Given the description of an element on the screen output the (x, y) to click on. 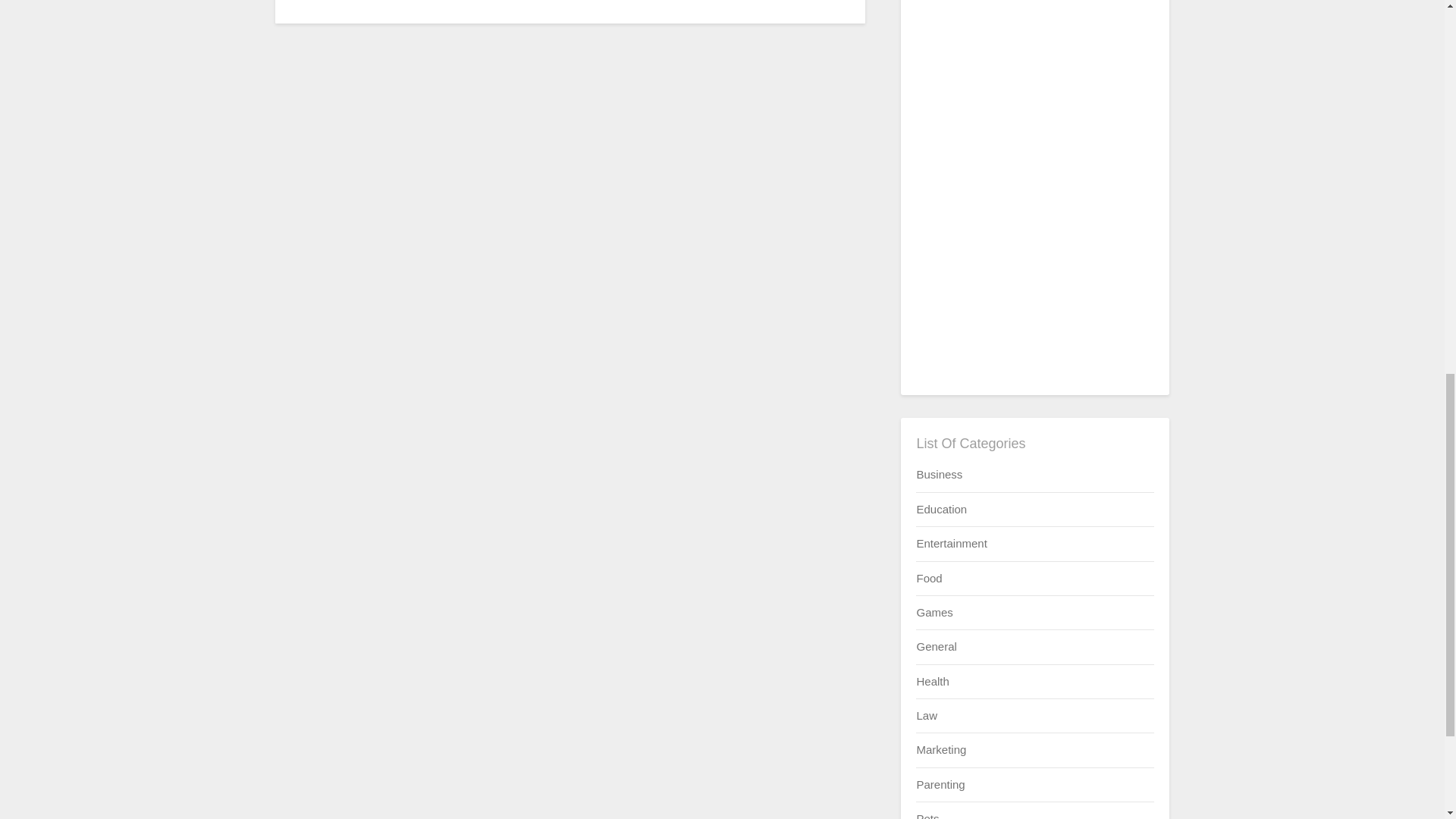
Law (926, 715)
Parenting (939, 784)
Health (932, 680)
Pets (927, 815)
Entertainment (951, 543)
General (935, 645)
Games (933, 612)
Business (938, 473)
Education (940, 508)
Marketing (940, 748)
